Given the description of an element on the screen output the (x, y) to click on. 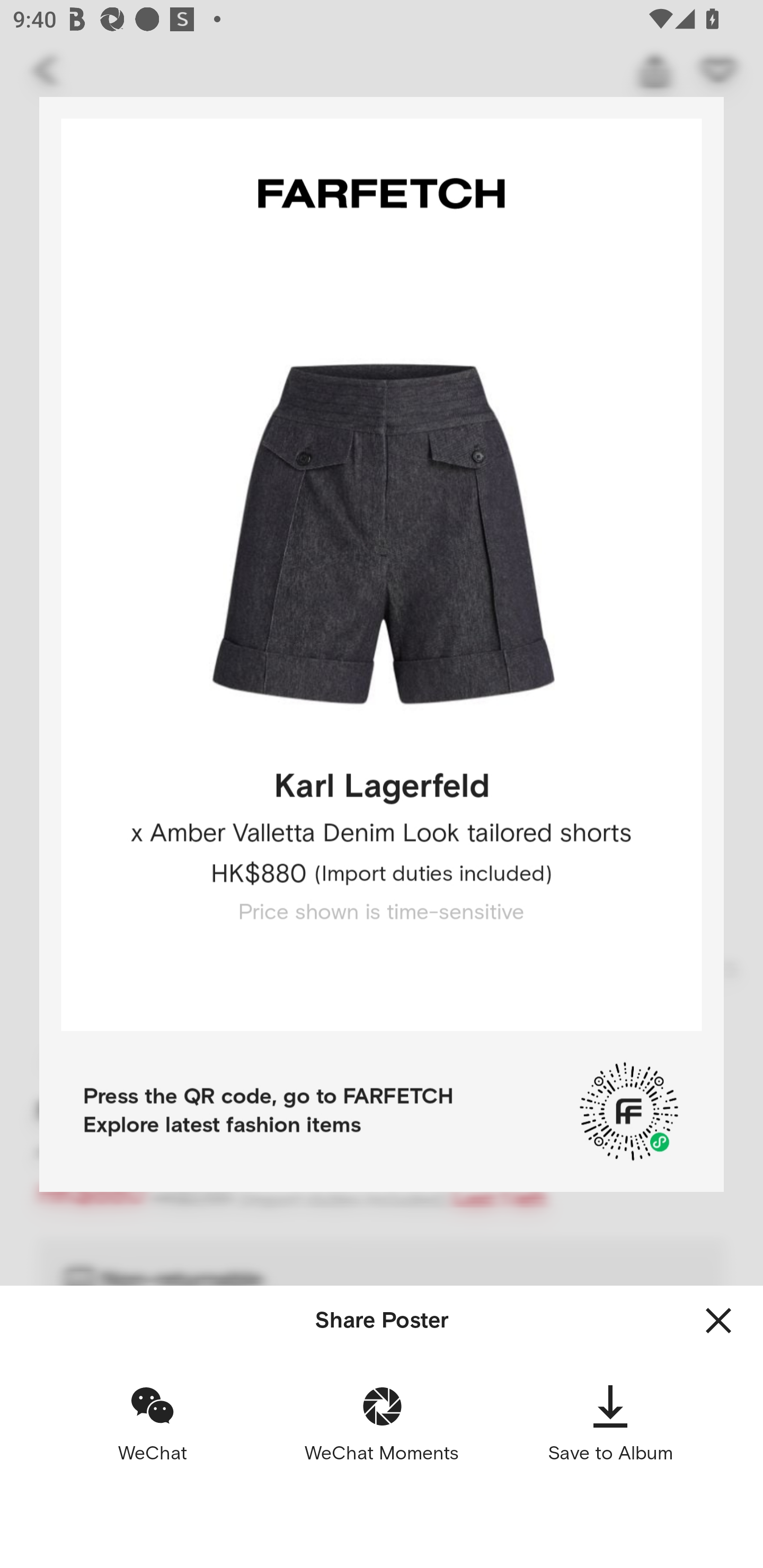
WeChat (152, 1423)
WeChat Moments (381, 1423)
Save to Album (609, 1423)
